Given the description of an element on the screen output the (x, y) to click on. 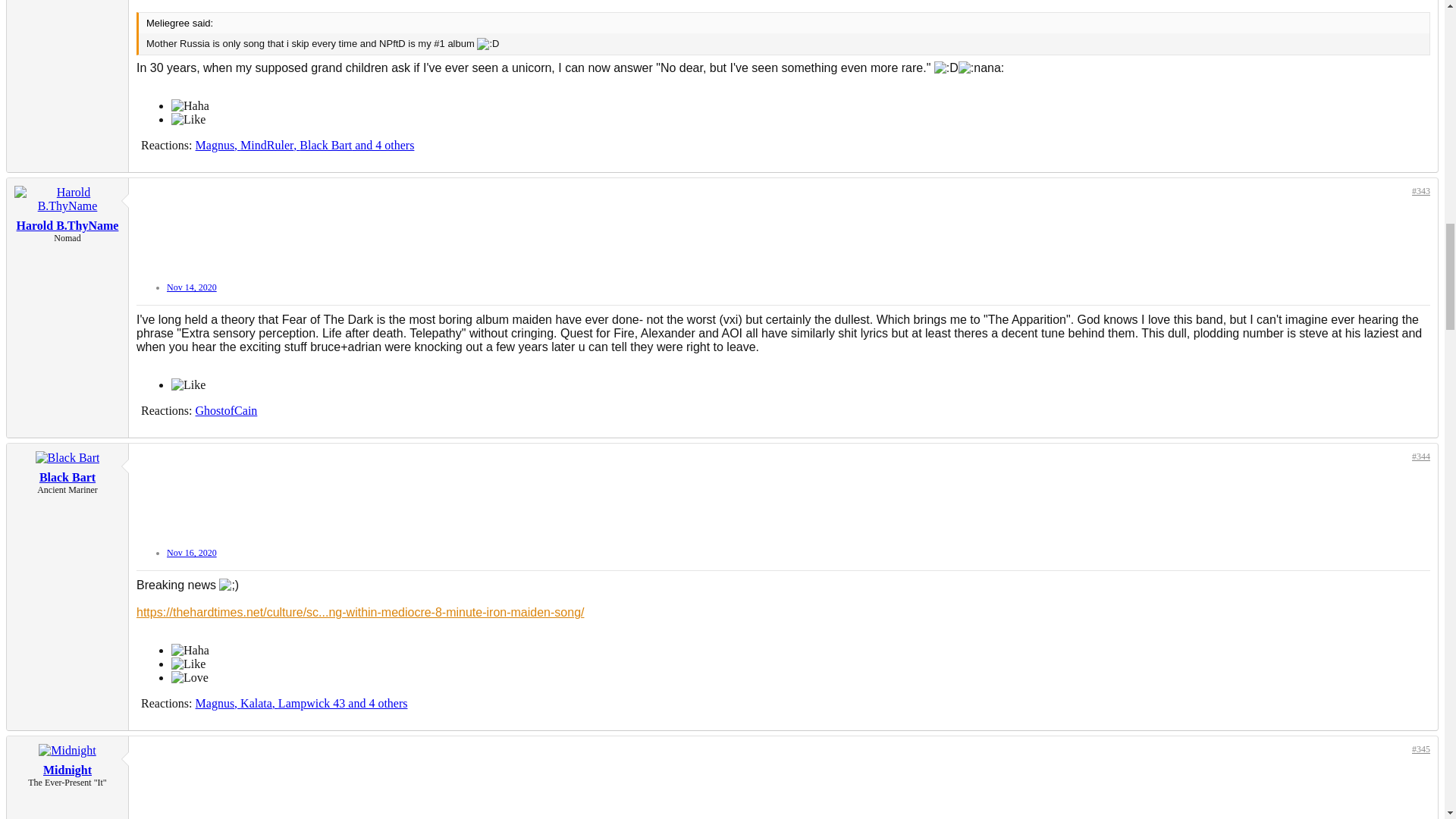
Like (188, 119)
Nov 16, 2020 at 5:57 PM (191, 552)
Big Grin    :D (946, 68)
The legend returneth    :nana: (981, 68)
Big Grin    :D (488, 43)
Nov 14, 2020 at 12:58 AM (191, 286)
Like (188, 385)
Haha (190, 106)
